Given the description of an element on the screen output the (x, y) to click on. 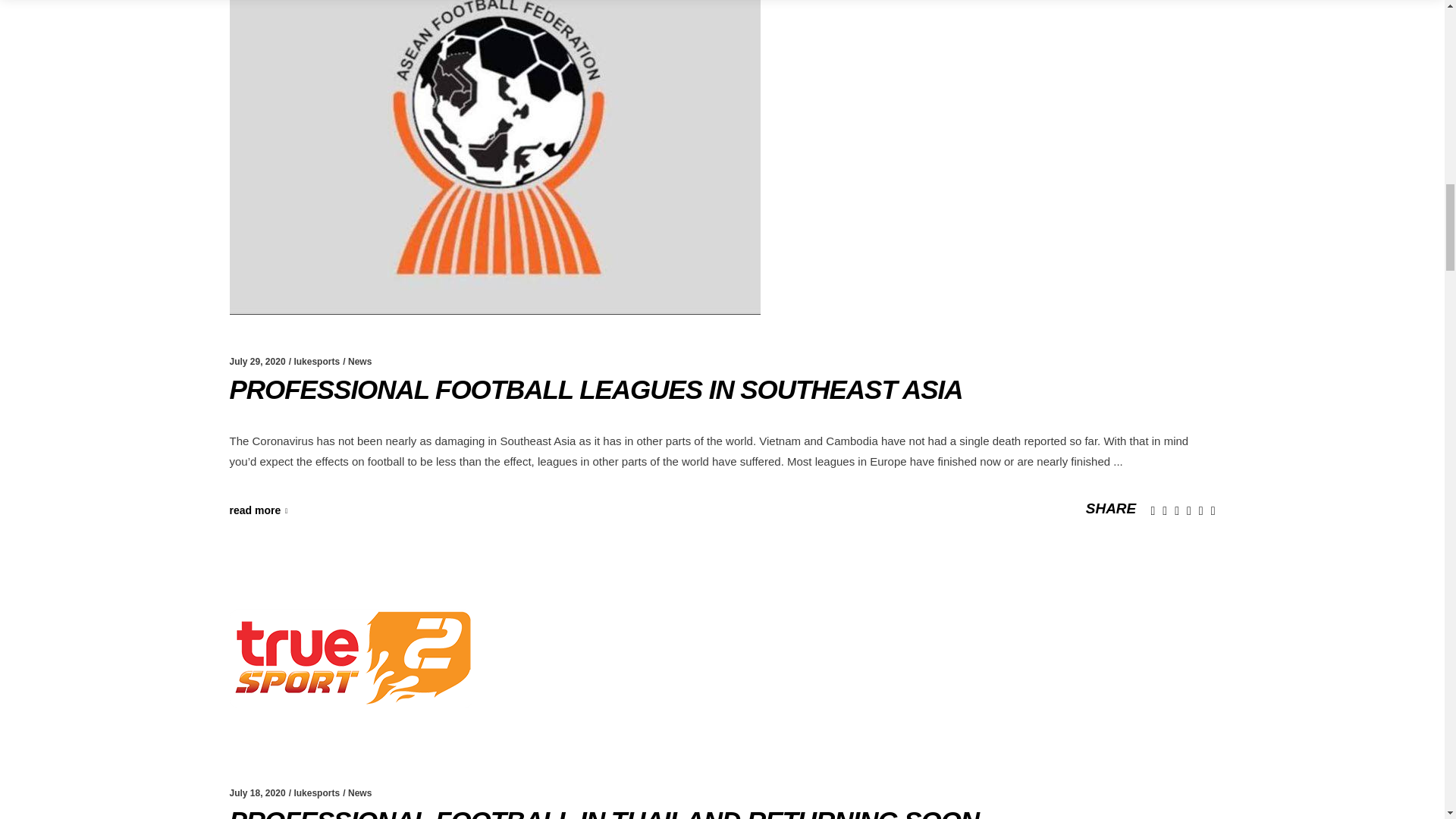
Professional Football Leagues in Southeast Asia (595, 389)
Professional Football In Thailand Returning Soon (603, 812)
Professional Football In Thailand Returning Soon (349, 658)
